Given the description of an element on the screen output the (x, y) to click on. 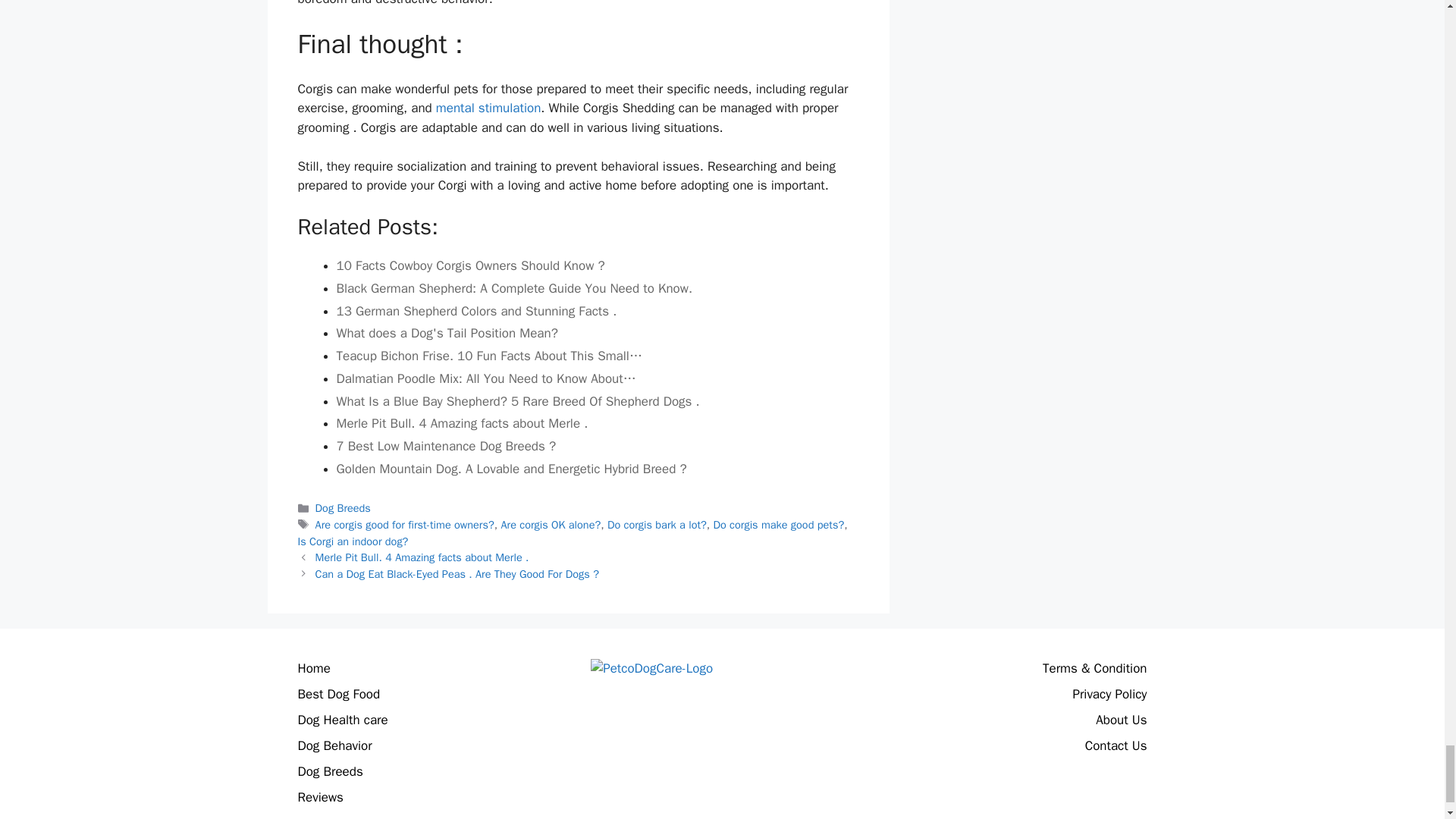
mental stimulation (488, 107)
10 Facts Cowboy Corgis Owners Should Know ? (597, 266)
13 German Shepherd Colors and Stunning Facts . (597, 311)
Black German Shepherd: A Complete Guide You Need to Know. (597, 288)
